Given the description of an element on the screen output the (x, y) to click on. 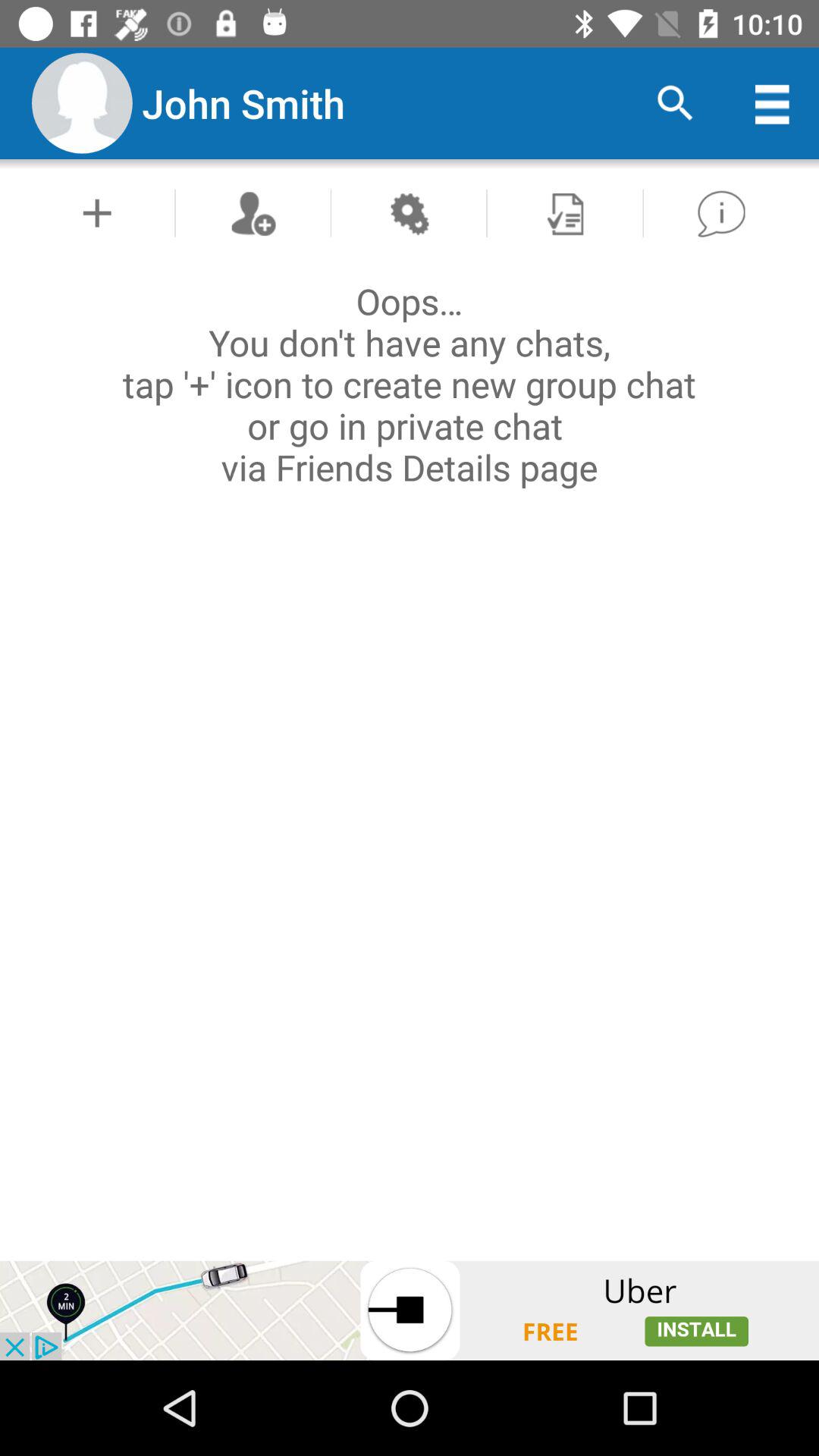
add friend (252, 213)
